Given the description of an element on the screen output the (x, y) to click on. 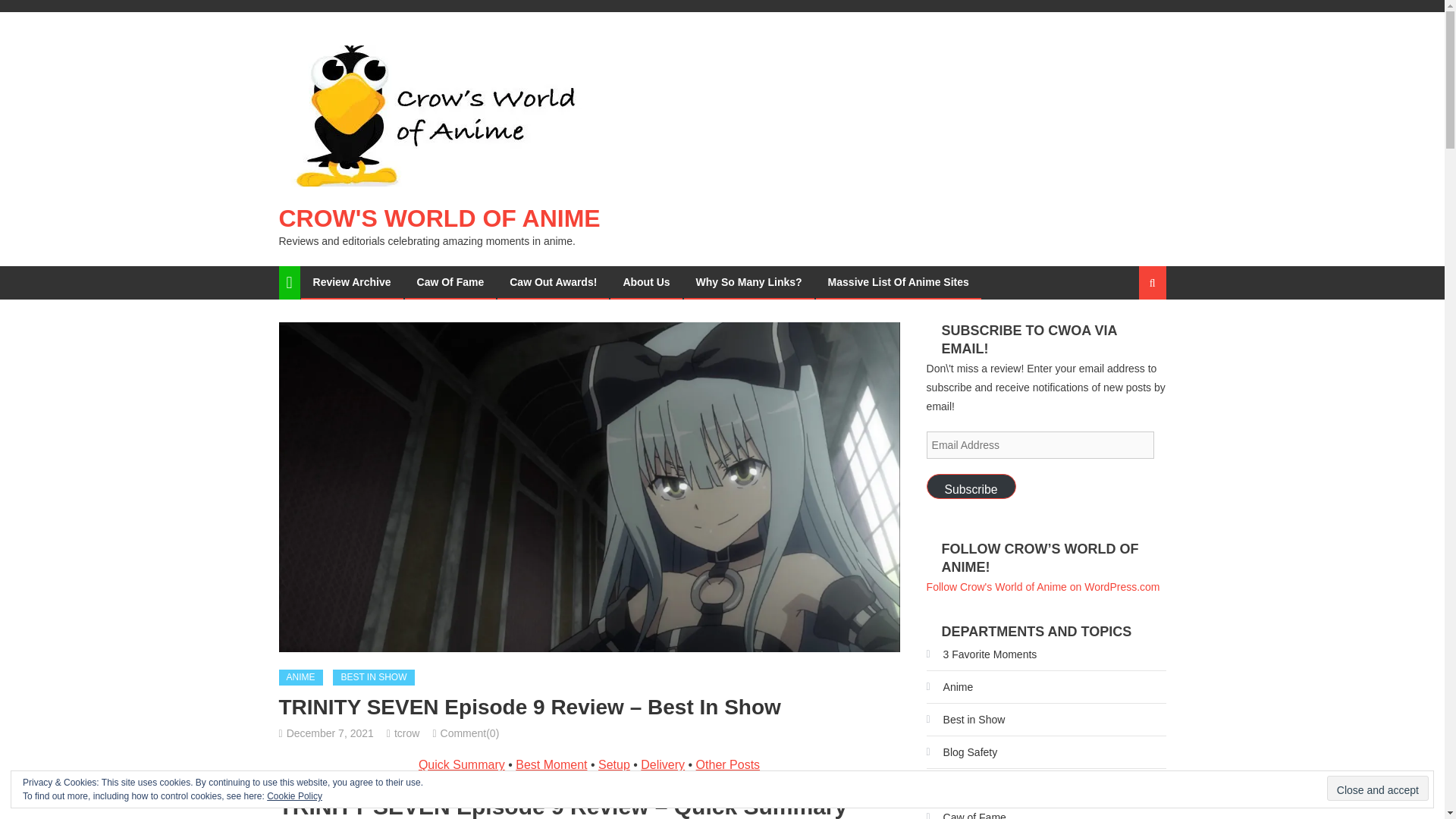
Delivery (662, 764)
BEST IN SHOW (373, 677)
Setup (614, 764)
Close and accept (1377, 787)
About Us (646, 282)
ANIME (301, 677)
Search (1133, 335)
December 7, 2021 (330, 733)
Best Moment (550, 764)
Caw Out Awards! (552, 282)
tcrow (406, 733)
Other Posts (727, 764)
Massive List Of Anime Sites (897, 282)
Quick Summary (462, 764)
Why So Many Links? (748, 282)
